Given the description of an element on the screen output the (x, y) to click on. 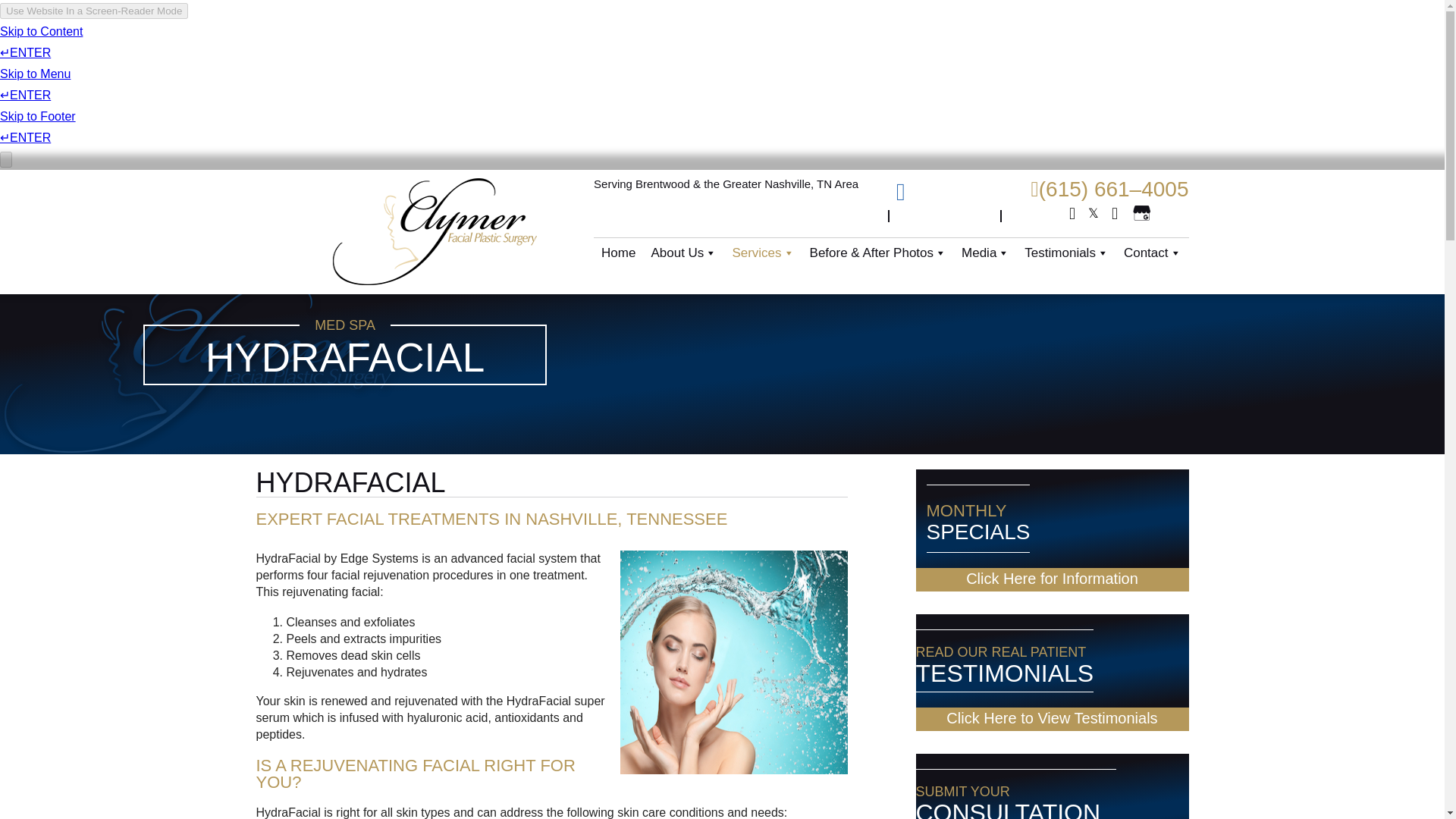
Click here for Special Offers (1052, 579)
Instagram (1114, 213)
Google My Business (1141, 212)
Services (762, 253)
Facebook (1072, 213)
Click here for Patient Testimonials (1052, 719)
About Us (683, 253)
Twitter (1093, 213)
Home (618, 253)
Hydrafacial - Nashville, TN (733, 661)
Dr. Clymer (199, 366)
Dr. Clymer (434, 231)
